Given the description of an element on the screen output the (x, y) to click on. 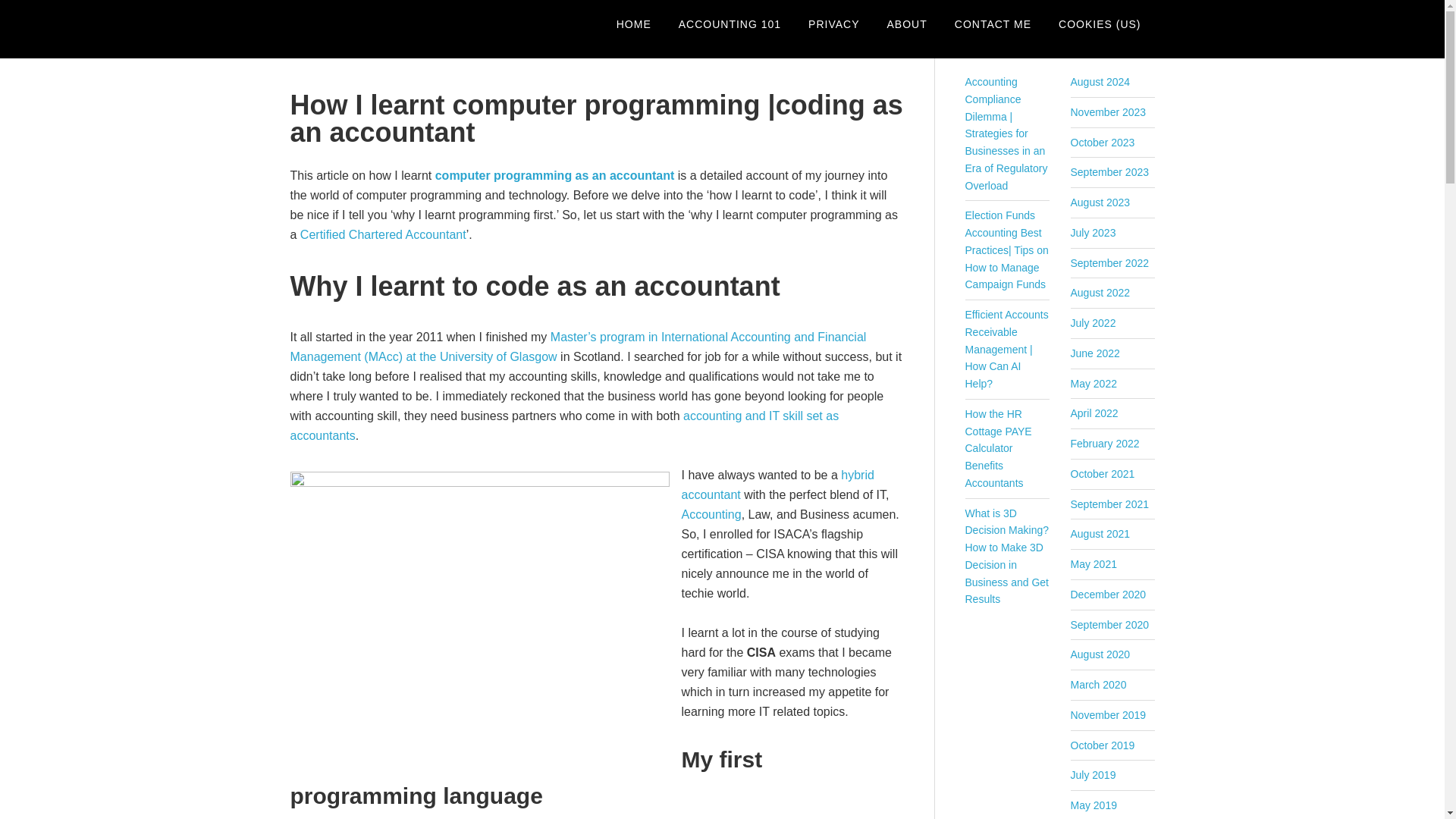
accounting and IT skill set as accountants (563, 425)
Certified Chartered Accountant (382, 234)
August 2024 (1100, 81)
Accounting (711, 513)
ABOUT (906, 24)
computer programming as an accountant (555, 174)
PRIVACY (833, 24)
Accounting 101 Articles (729, 24)
hybrid accountant (777, 484)
ACCOUNTING 101 (729, 24)
